Given the description of an element on the screen output the (x, y) to click on. 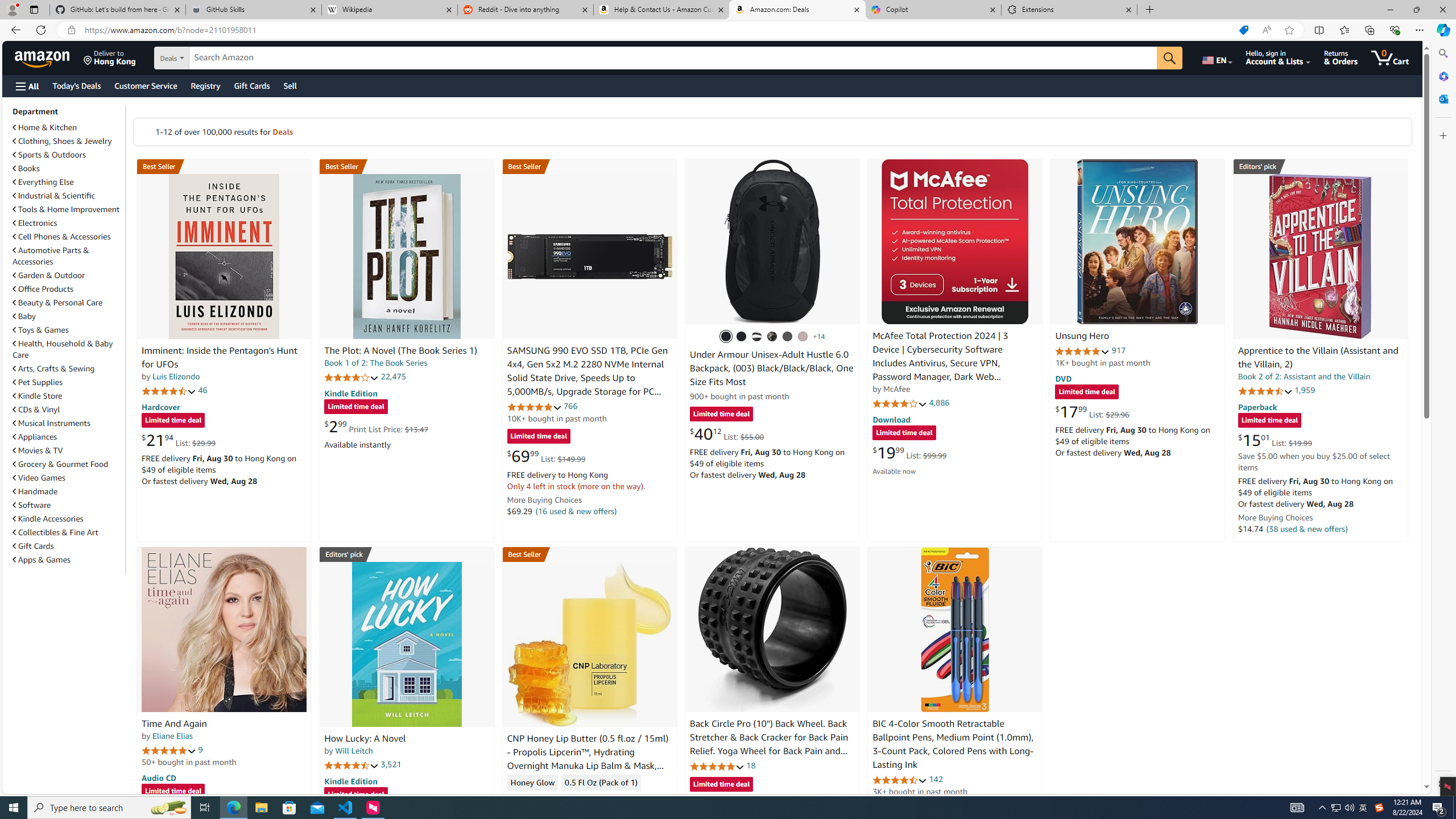
(002) Black / Black / White (756, 336)
1,959 (1305, 390)
Customer Service (145, 85)
GitHub Skills (253, 9)
142 (935, 778)
Grocery & Gourmet Food (61, 463)
$2.99 Print List Price: $13.47 (376, 426)
(001) Black / Black / Metallic Gold (741, 336)
Amazon (43, 57)
Best Seller in Lip Butters (589, 553)
Kindle Accessories (67, 518)
Everything Else (67, 181)
Software (31, 504)
